Given the description of an element on the screen output the (x, y) to click on. 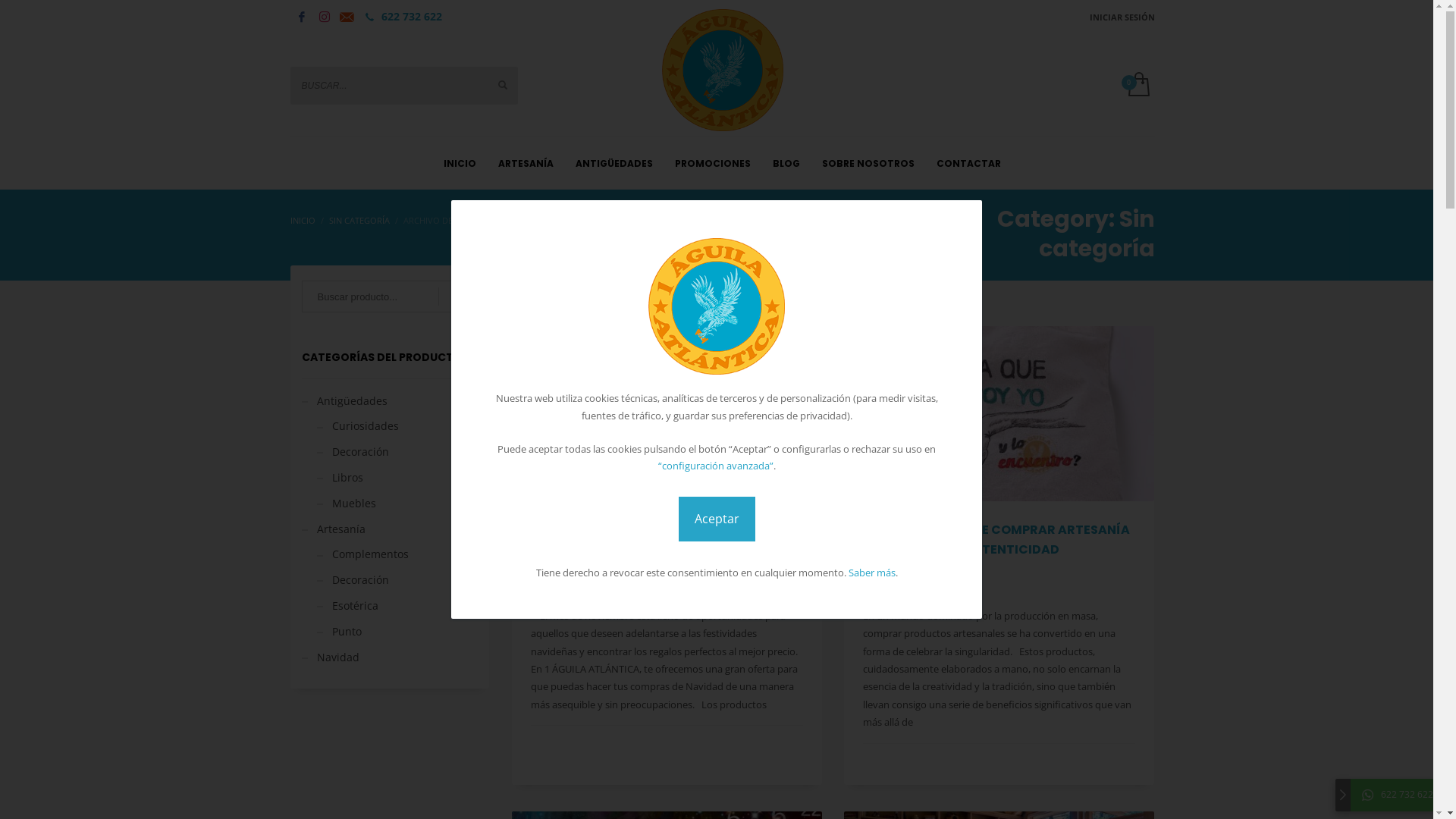
Complementos Element type: text (362, 553)
Instagram Element type: hover (323, 16)
Curiosidades Element type: text (357, 425)
Ver tu carrito de compra Element type: hover (1137, 84)
Newsletter Element type: hover (346, 17)
Search Element type: text (457, 296)
Punto Element type: text (338, 631)
SOBRE NOSOTROS Element type: text (867, 162)
Navidad Element type: text (330, 656)
Muebles Element type: text (346, 502)
Telefono Element type: hover (368, 16)
BLOG Element type: text (786, 162)
Search for: Element type: hover (389, 296)
Libros Element type: text (339, 477)
go Element type: text (501, 83)
Aceptar Element type: text (715, 518)
CONTACTAR Element type: text (968, 162)
Hide Button Element type: hover (1342, 794)
INICIO Element type: text (301, 219)
PROMOCIONES Element type: text (712, 162)
Facebook Element type: hover (300, 16)
INICIO Element type: text (459, 162)
622 732 622 Element type: text (1399, 794)
622 732 622 Element type: text (410, 16)
